Given the description of an element on the screen output the (x, y) to click on. 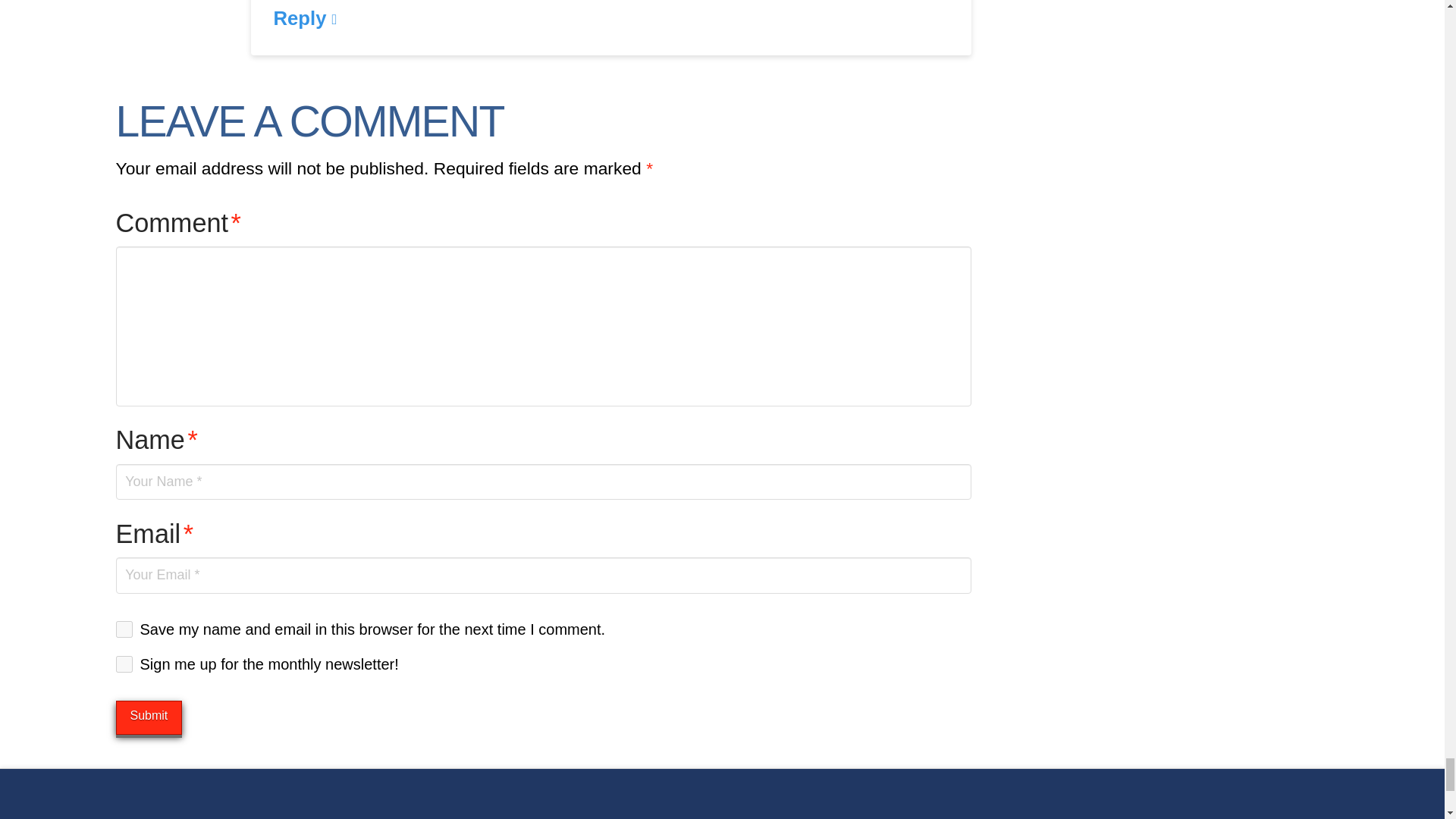
1 (123, 664)
yes (123, 629)
Submit (148, 717)
